Given the description of an element on the screen output the (x, y) to click on. 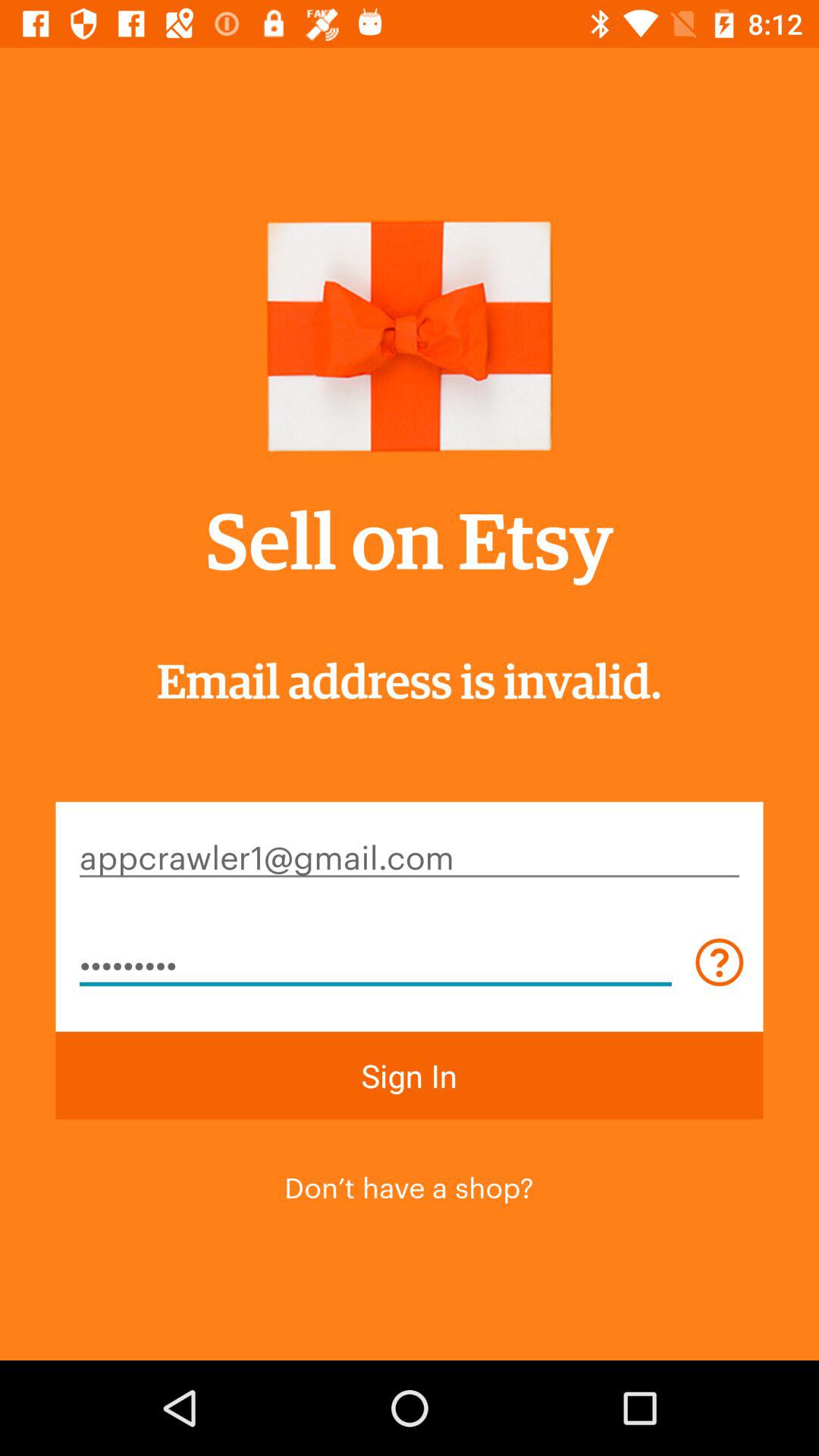
open the item below sign in (408, 1185)
